Given the description of an element on the screen output the (x, y) to click on. 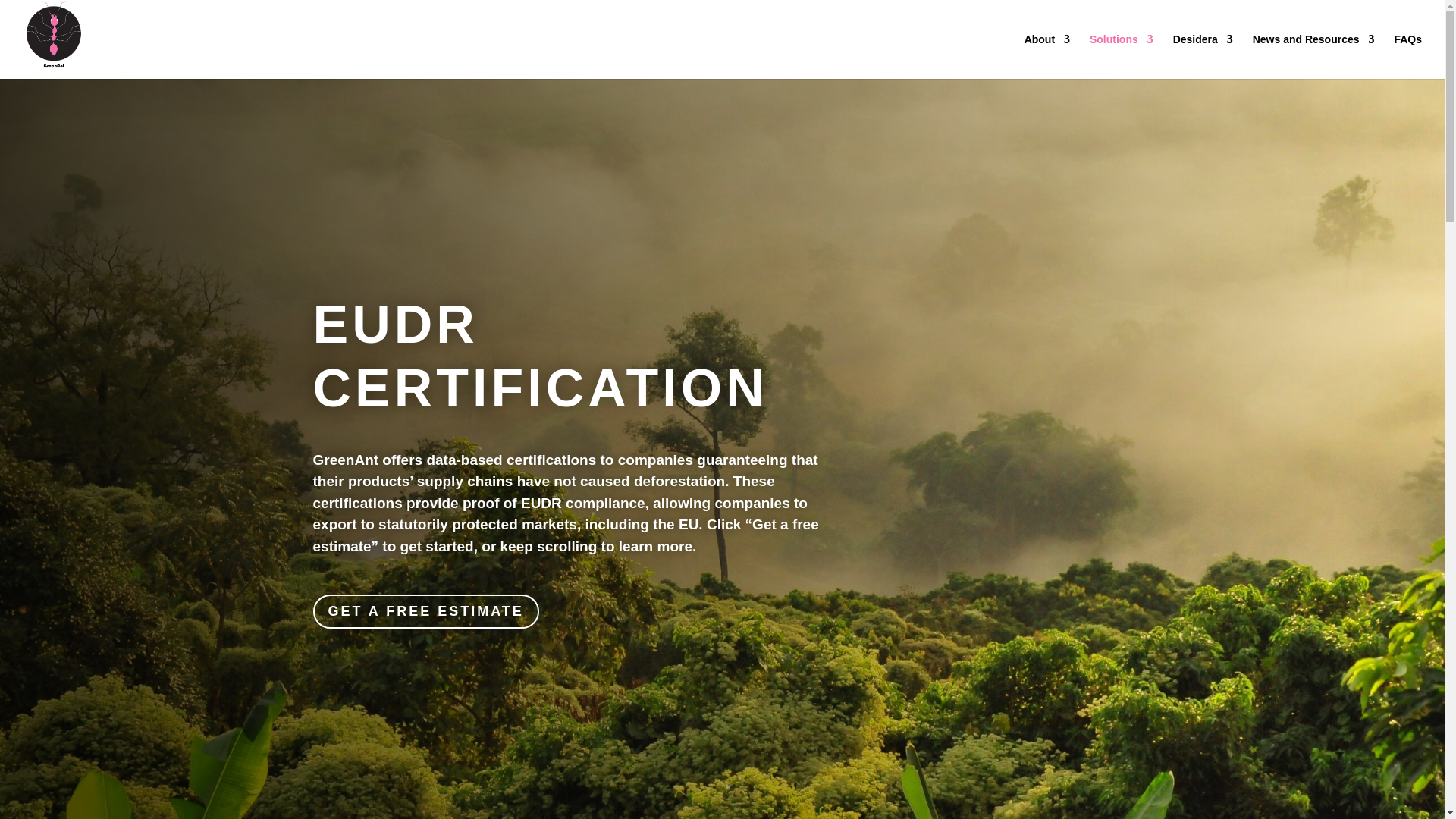
About (1047, 56)
Solutions (1121, 56)
GET A FREE ESTIMATE (425, 611)
News and Resources (1313, 56)
Desidera (1203, 56)
